Given the description of an element on the screen output the (x, y) to click on. 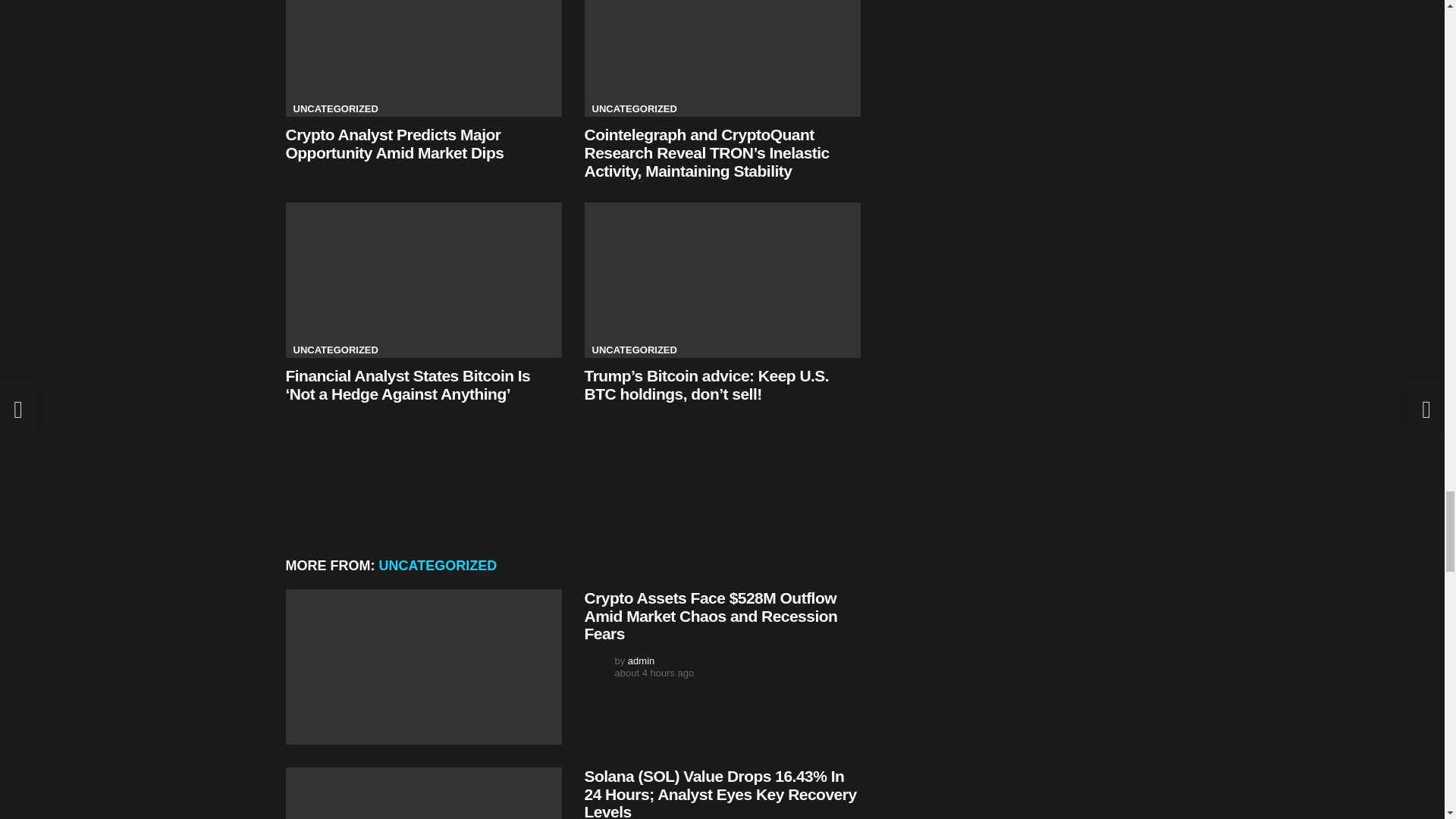
Crypto Analyst Predicts Major Opportunity Amid Market Dips (422, 58)
